Given the description of an element on the screen output the (x, y) to click on. 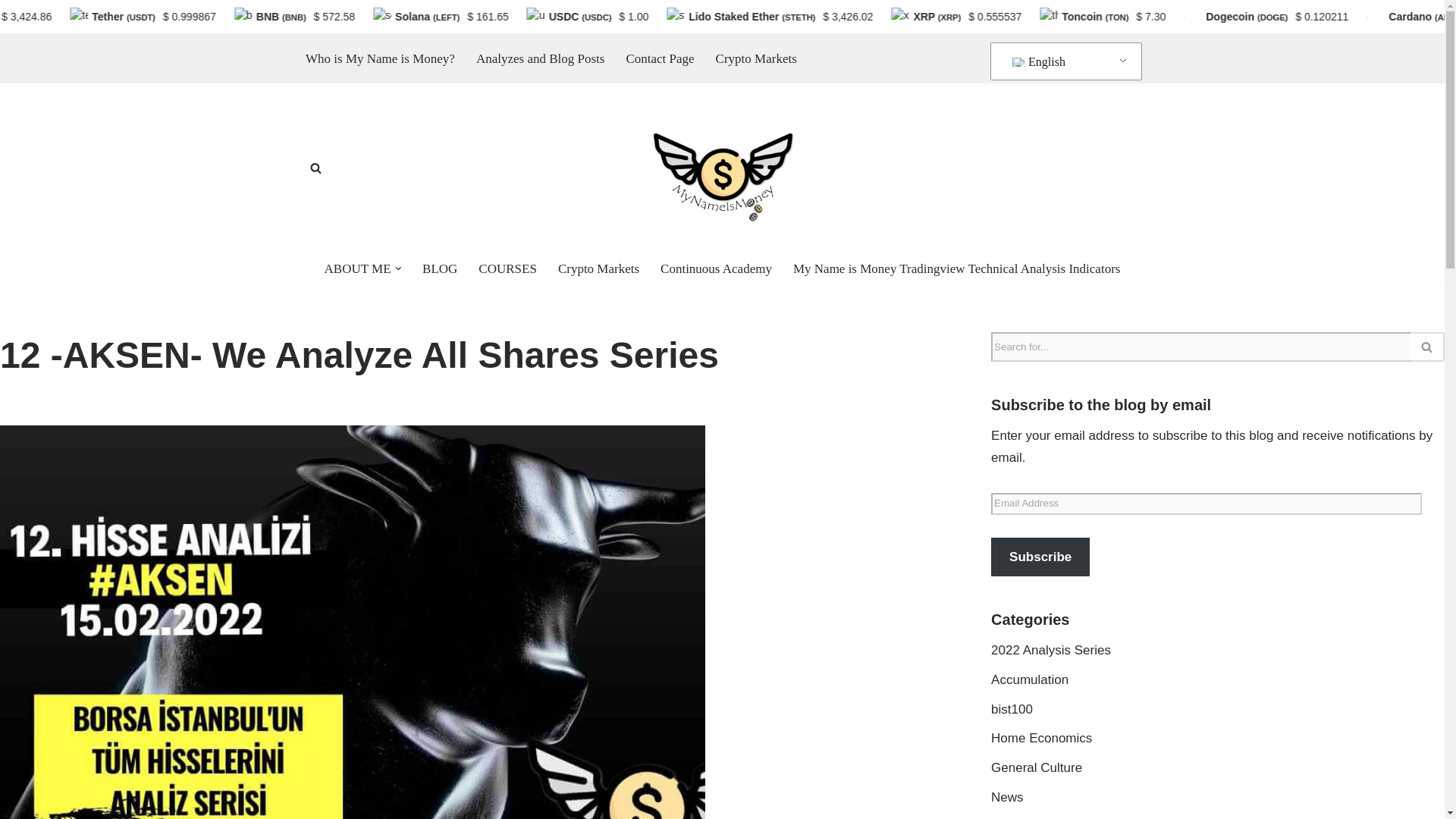
English (1063, 60)
Continuous Academy (716, 268)
Skip to content (11, 64)
Crypto Markets (598, 268)
Who is My Name is Money? (379, 57)
English (1063, 60)
BLOG (439, 268)
Contact Page (660, 57)
My Name is Money Tradingview Technical Analysis Indicators (956, 268)
Crypto Markets (756, 57)
COURSES (508, 268)
English (1018, 61)
ABOUT ME (357, 268)
Analyzes and Blog Posts (540, 57)
